Given the description of an element on the screen output the (x, y) to click on. 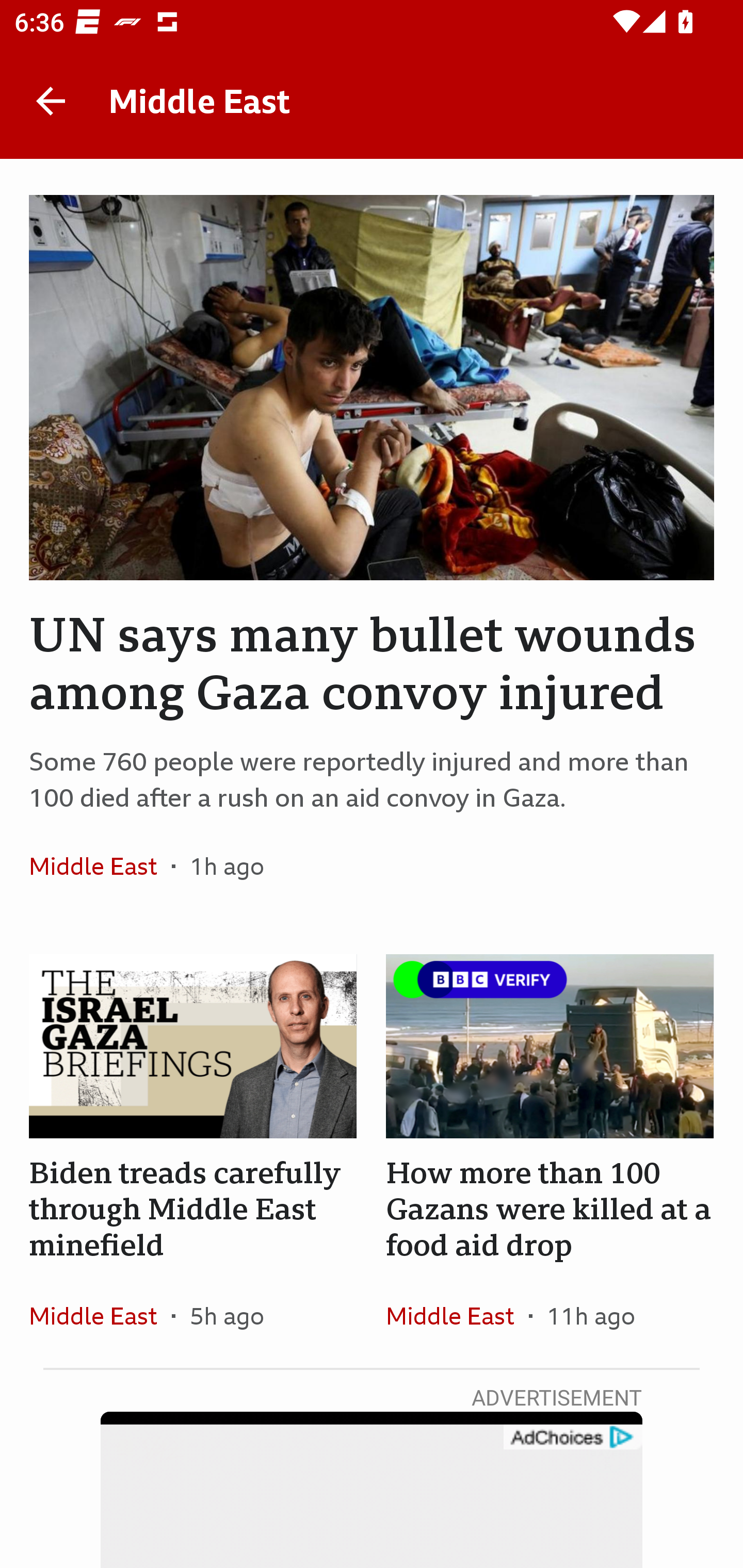
Back (50, 101)
Middle East In the section Middle East (99, 865)
Middle East In the section Middle East (99, 1315)
Middle East In the section Middle East (457, 1315)
